Given the description of an element on the screen output the (x, y) to click on. 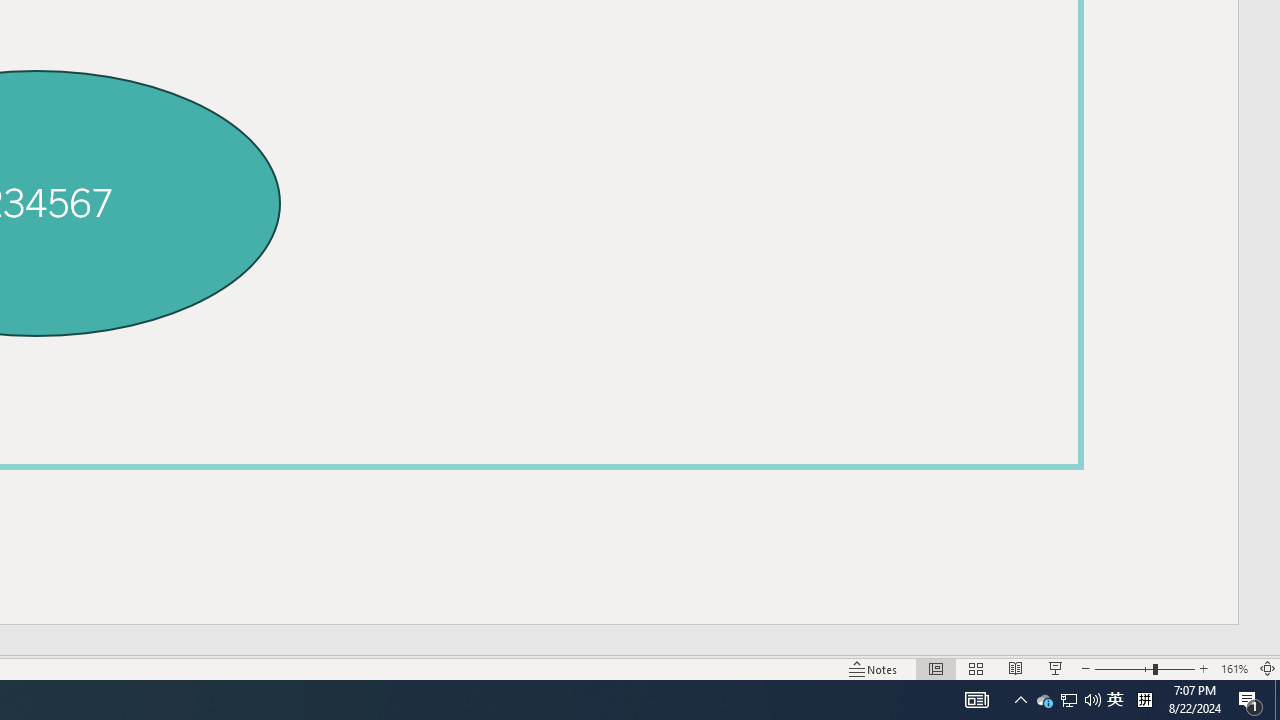
Zoom 161% (1234, 668)
